Given the description of an element on the screen output the (x, y) to click on. 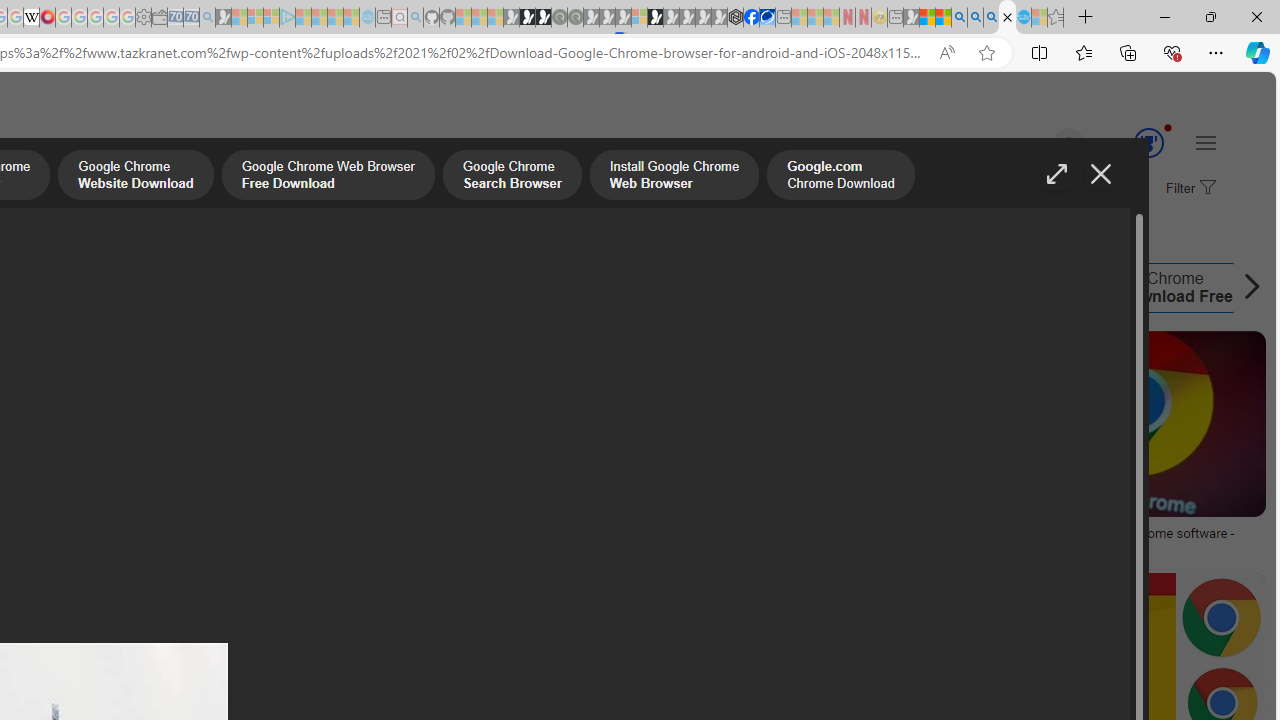
2009 Bing officially replaced Live Search on June 3 - Search (975, 17)
Bing Real Estate - Home sales and rental listings - Sleeping (207, 17)
Settings and quick links (1205, 142)
Settings - Sleeping (143, 17)
Animation (1167, 127)
AutomationID: serp_medal_svg (1148, 142)
Microsoft Rewards 84 (1130, 143)
Favorites - Sleeping (1055, 17)
MSN - Sleeping (911, 17)
Cheap Car Rentals - Save70.com - Sleeping (191, 17)
Google Chrome Web Browser Free Download (328, 177)
